Given the description of an element on the screen output the (x, y) to click on. 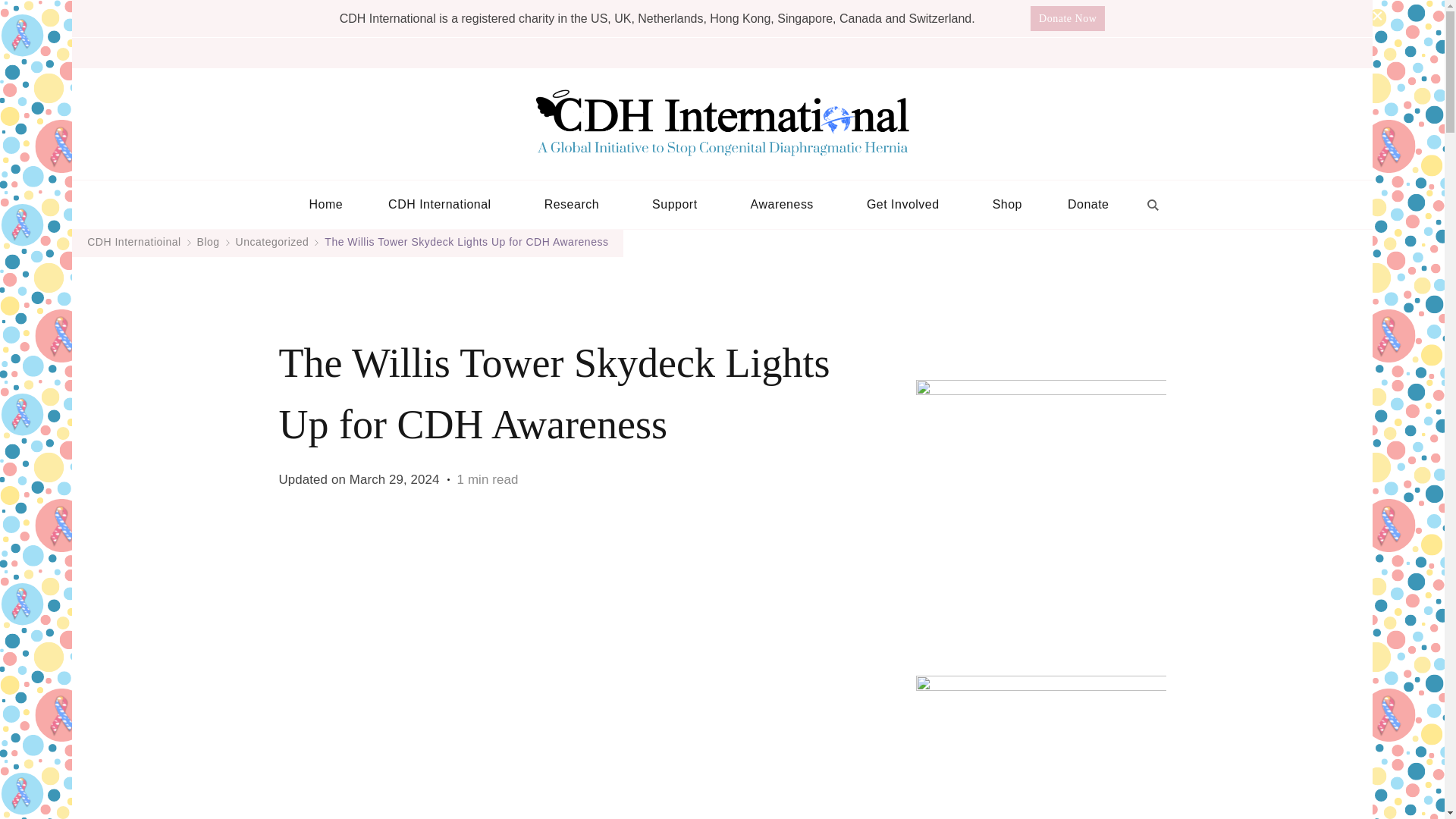
Donate Now (1067, 18)
